Given the description of an element on the screen output the (x, y) to click on. 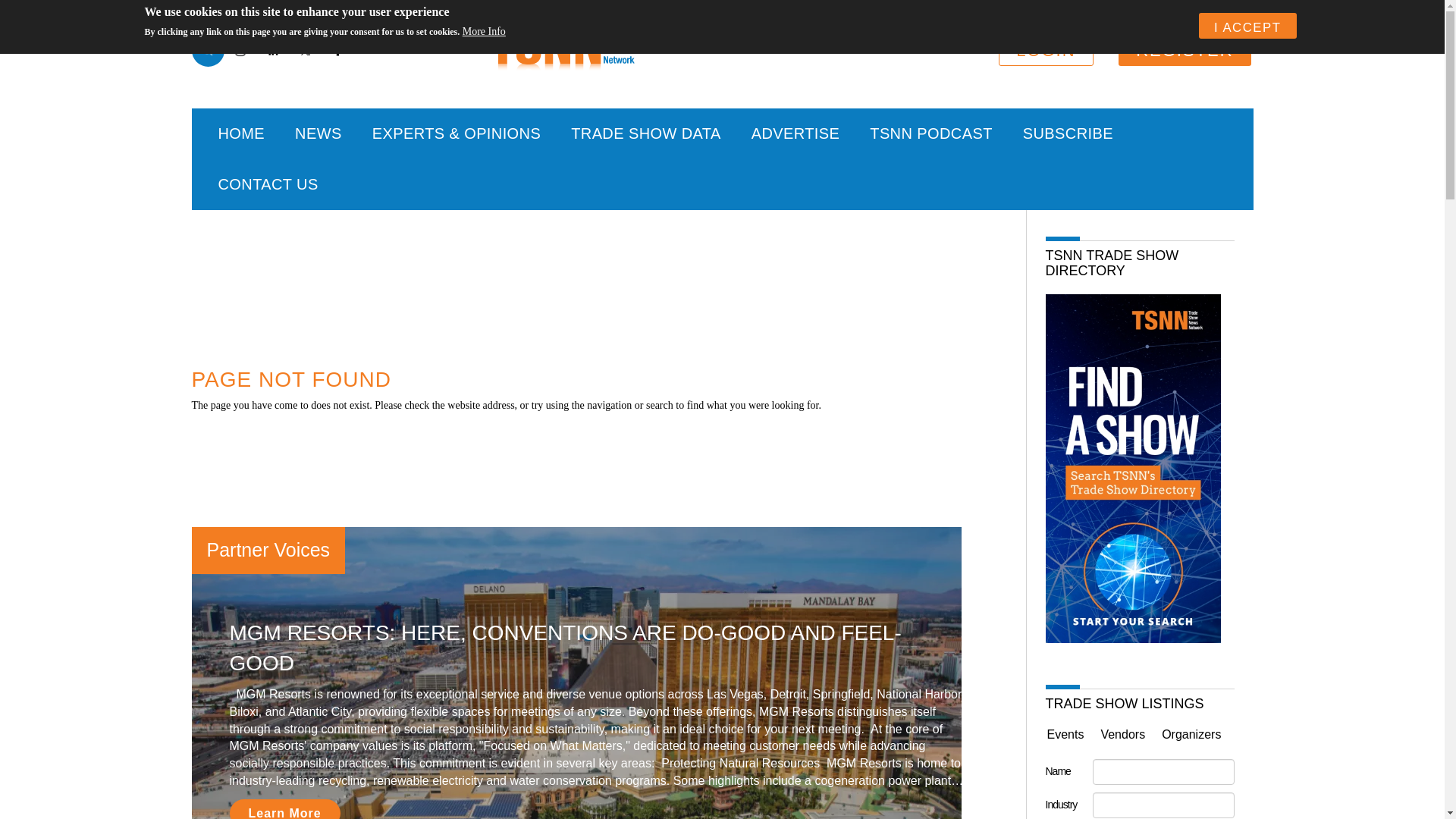
I ACCEPT (1246, 25)
TRADE SHOW DATA (645, 133)
REGISTER (1184, 50)
CONTACT US (268, 183)
SUBSCRIBE (1067, 133)
3rd party ad content (597, 274)
More Info (484, 31)
MGM RESORTS: HERE, CONVENTIONS ARE DO-GOOD AND FEEL-GOOD (564, 647)
HOME (242, 133)
3rd party ad content (597, 462)
LOGIN (1045, 50)
ADVERTISE (796, 133)
TSNN PODCAST (930, 133)
NEWS (317, 133)
